Given the description of an element on the screen output the (x, y) to click on. 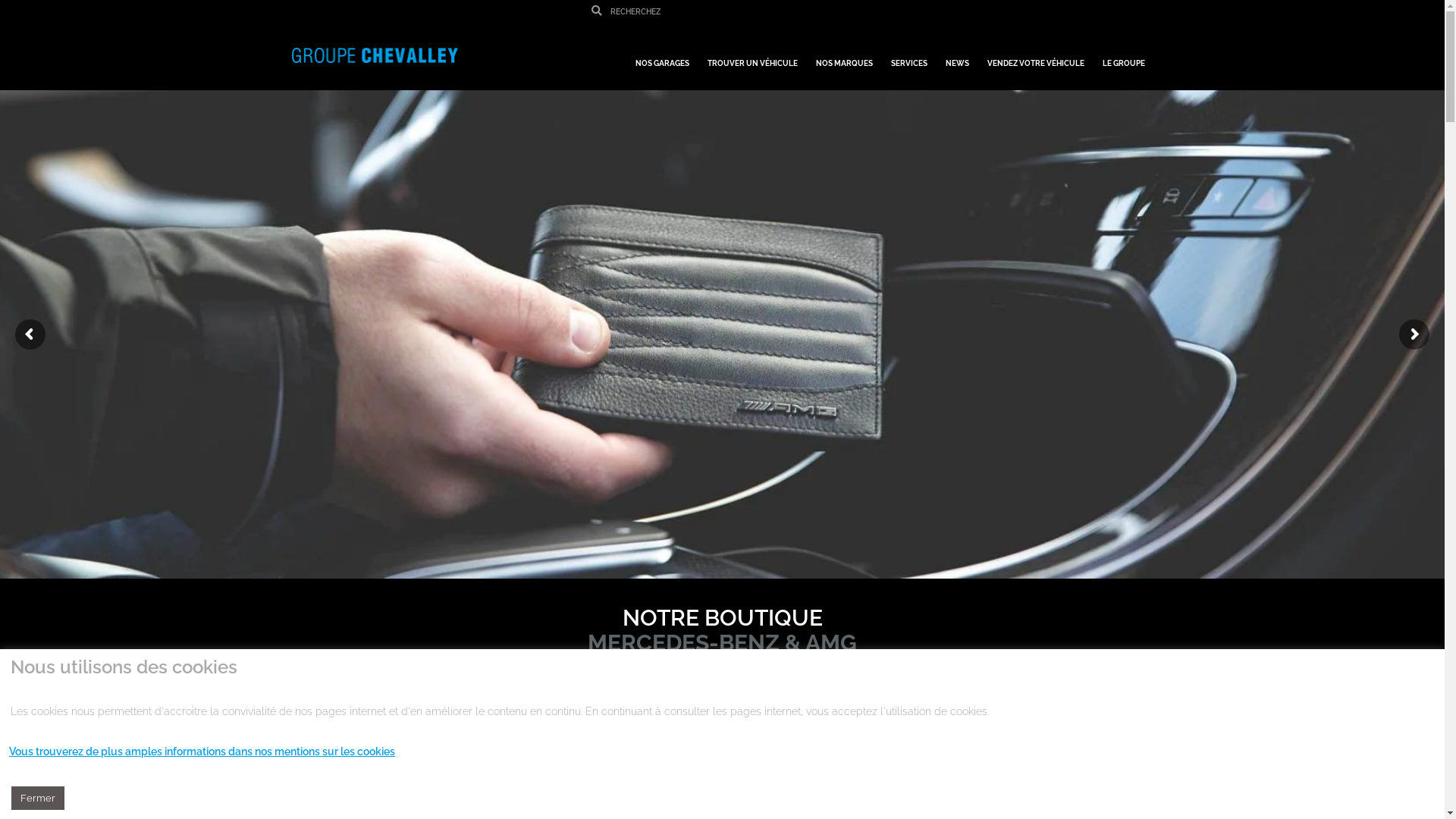
LE GROUPE Element type: text (1123, 56)
NOS GARAGES Element type: text (662, 56)
Fermer Element type: text (37, 797)
NOS MARQUES Element type: text (843, 56)
SERVICES Element type: text (908, 56)
NEWS Element type: text (956, 56)
